Given the description of an element on the screen output the (x, y) to click on. 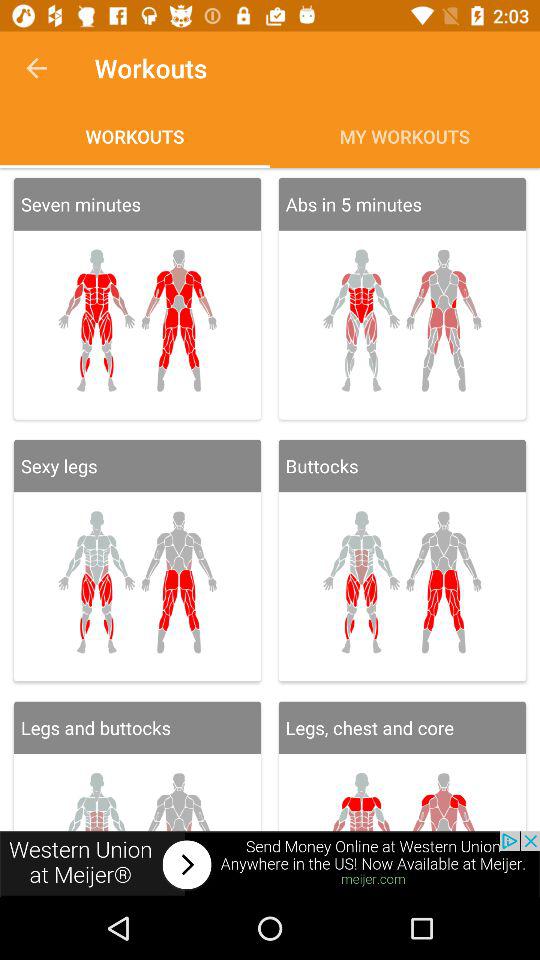
open advertisement (270, 864)
